Given the description of an element on the screen output the (x, y) to click on. 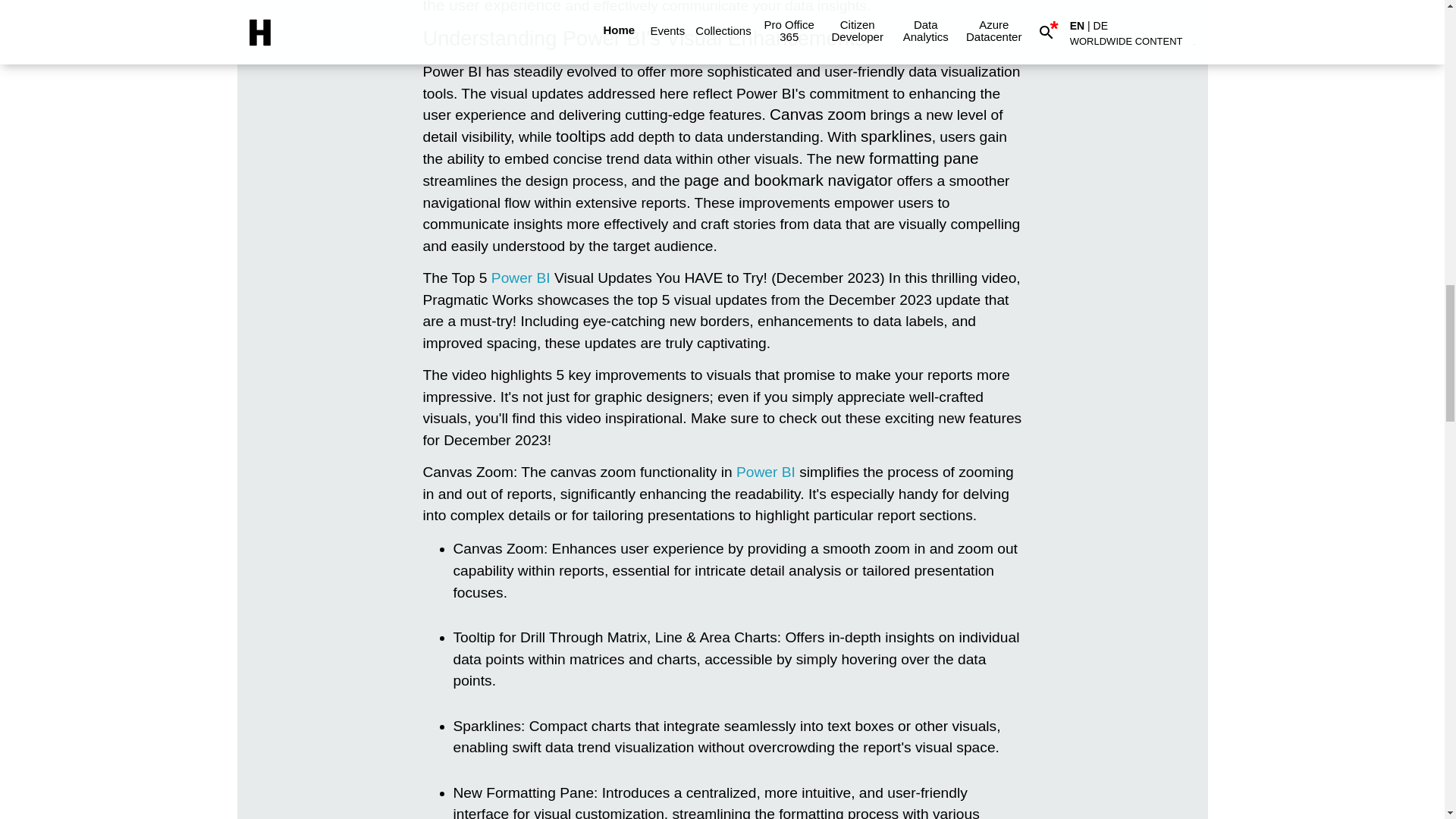
Power BI (765, 471)
Power BI (521, 277)
Power BI (765, 471)
Power BI (521, 277)
